Given the description of an element on the screen output the (x, y) to click on. 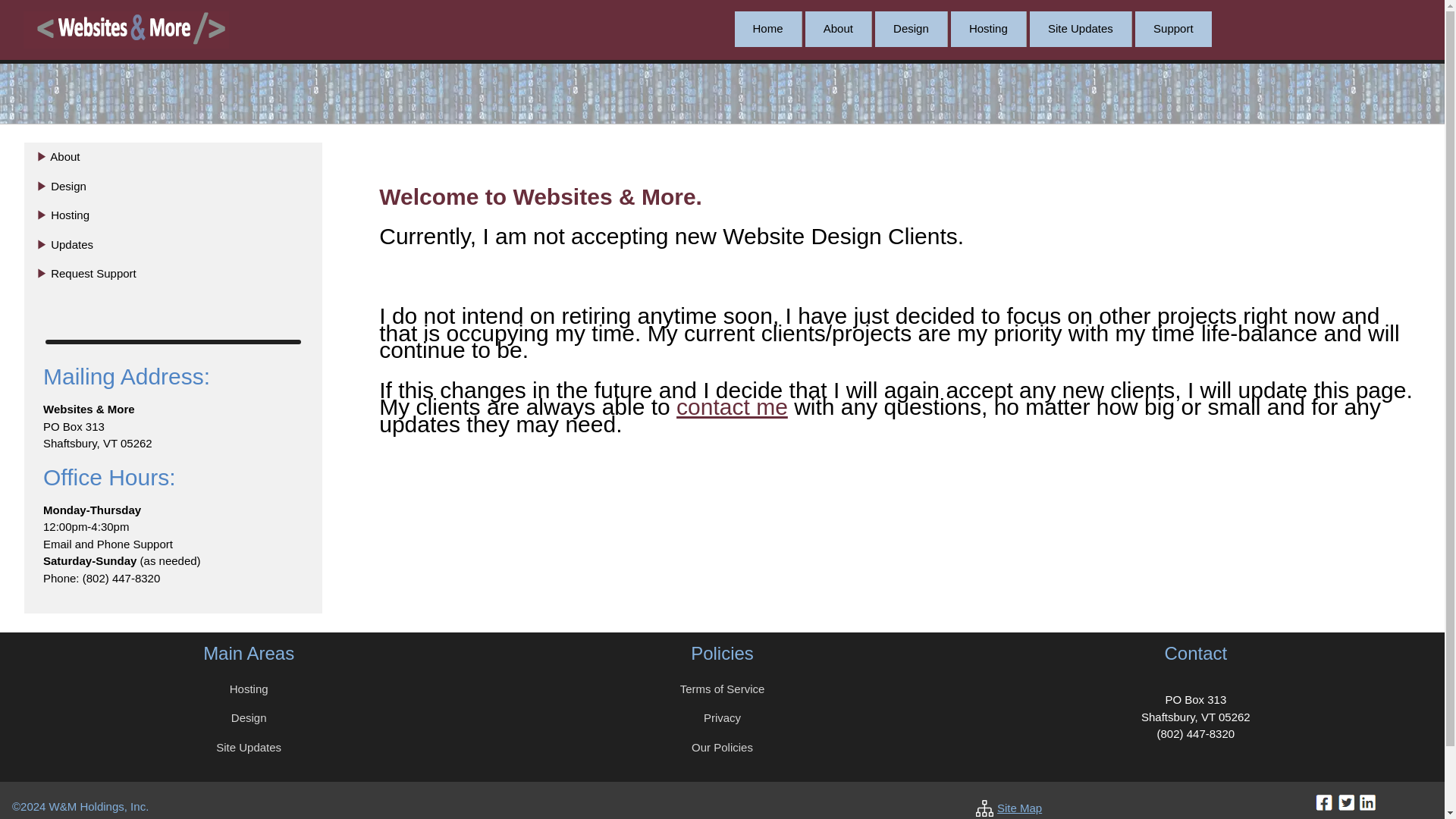
Privacy (722, 717)
Site Map (1019, 807)
Support (1173, 28)
contact me (732, 406)
Hosting (248, 688)
Home (767, 28)
Design (248, 717)
Terms of Service (722, 688)
Site Updates (248, 747)
Hosting (988, 28)
Design (911, 28)
Our Policies (721, 747)
About (838, 28)
Site Updates (1080, 28)
